Given the description of an element on the screen output the (x, y) to click on. 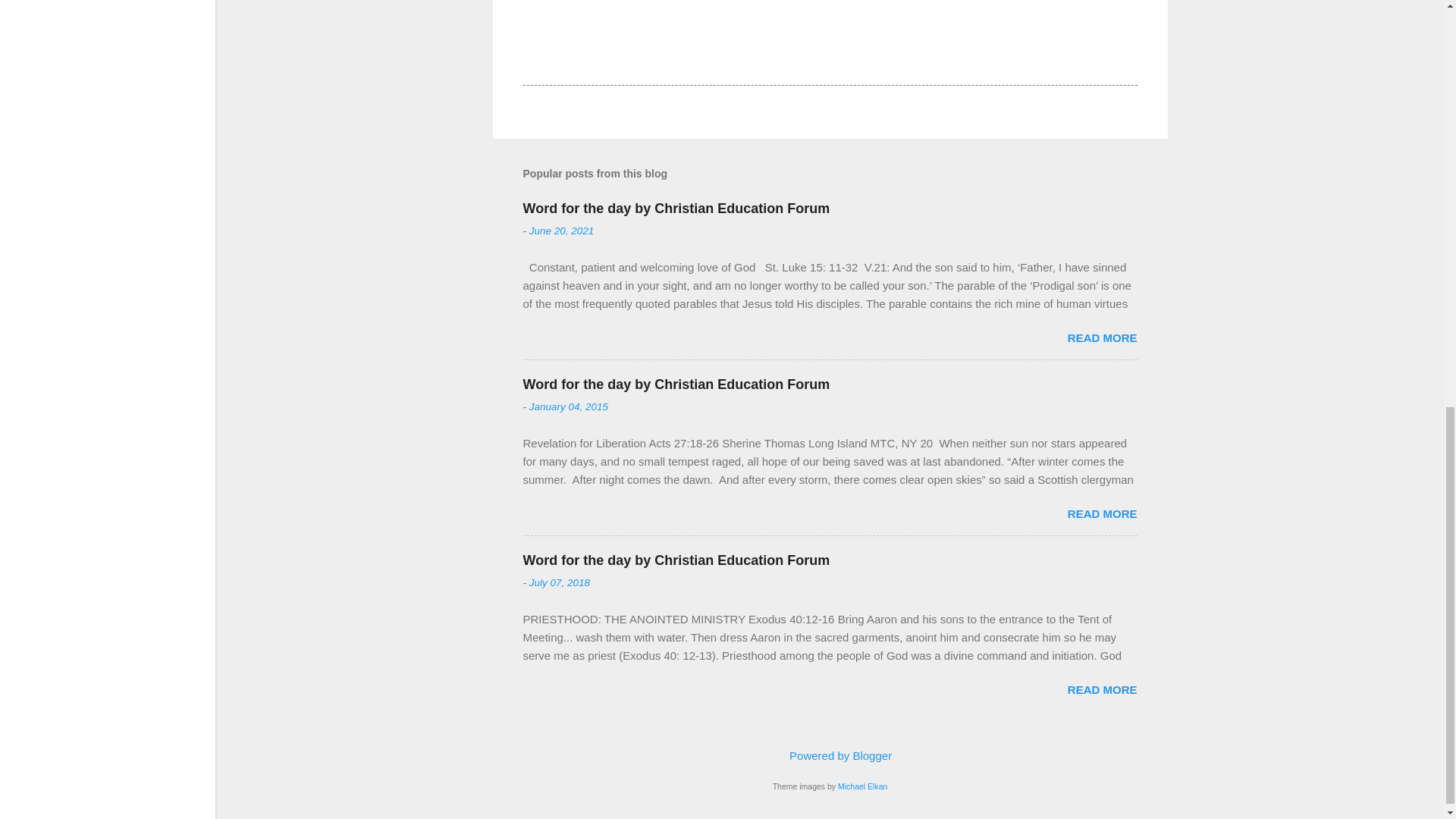
Word for the day by Christian Education Forum (675, 208)
January 04, 2015 (568, 406)
permanent link (561, 230)
June 20, 2021 (561, 230)
READ MORE (1102, 337)
Michael Elkan (862, 786)
READ MORE (1102, 689)
Powered by Blogger (829, 755)
READ MORE (1102, 513)
July 07, 2018 (559, 582)
